Given the description of an element on the screen output the (x, y) to click on. 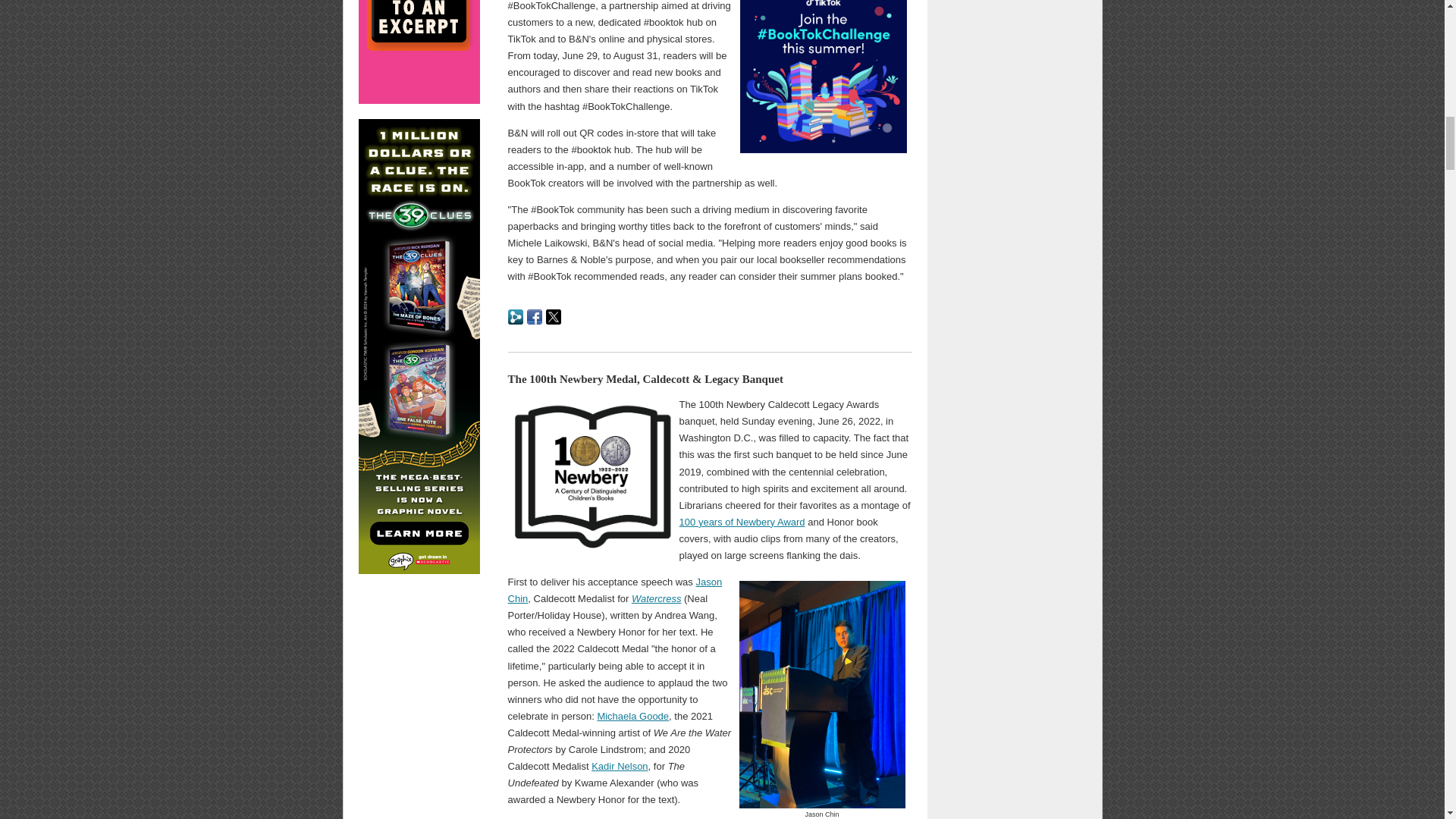
Share to Facebook (534, 315)
Share to X (553, 315)
